Given the description of an element on the screen output the (x, y) to click on. 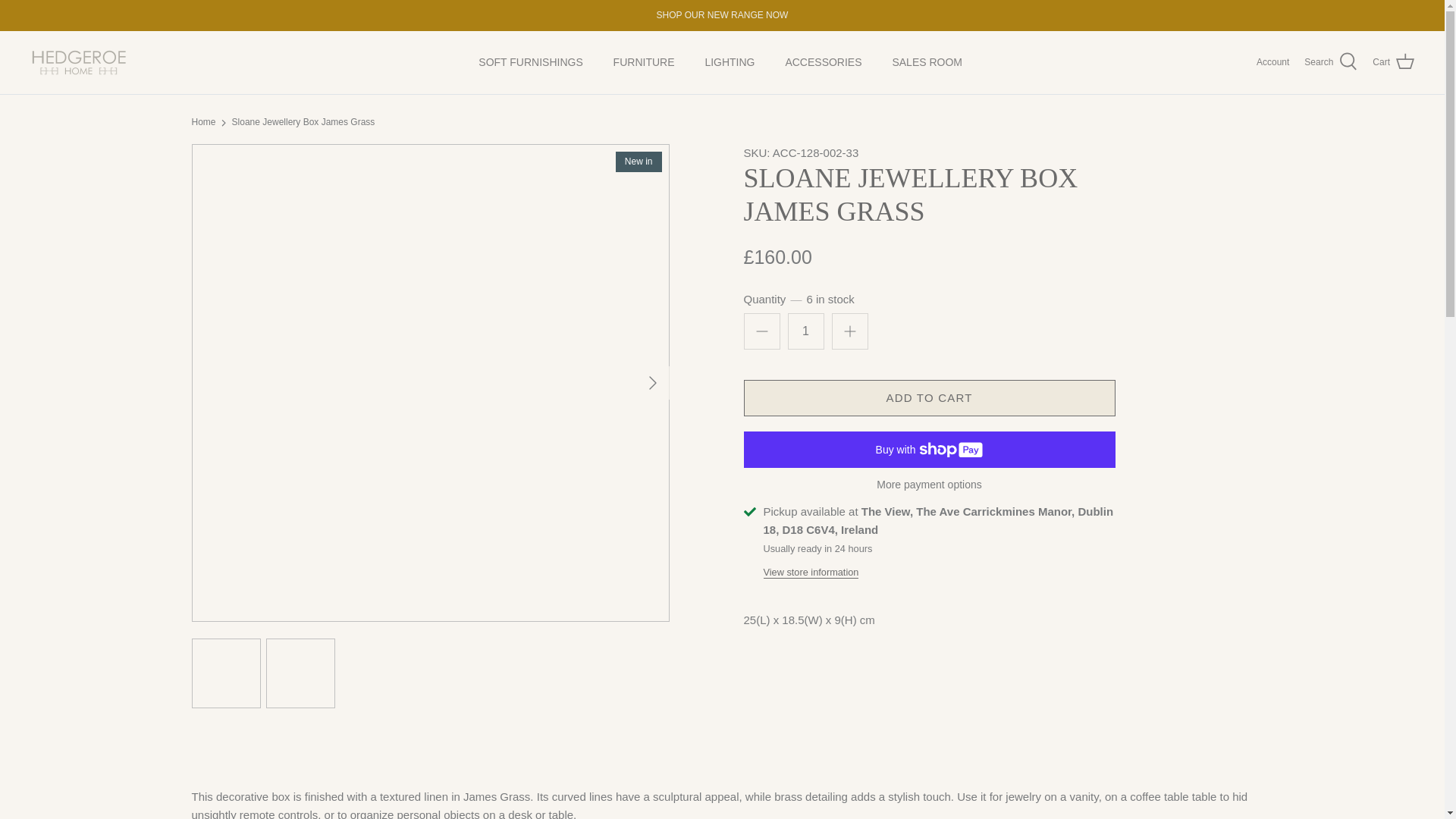
Cart (1393, 62)
1 (805, 330)
ACCESSORIES (823, 61)
SHOP OUR NEW RANGE NOW (722, 15)
SALES ROOM (926, 61)
Account (1272, 62)
LIGHTING (729, 61)
Search (1330, 62)
Plus (849, 331)
RIGHT (651, 382)
FURNITURE (643, 61)
Minus (761, 331)
Hedgeroe Home (79, 61)
SOFT FURNISHINGS (529, 61)
